Given the description of an element on the screen output the (x, y) to click on. 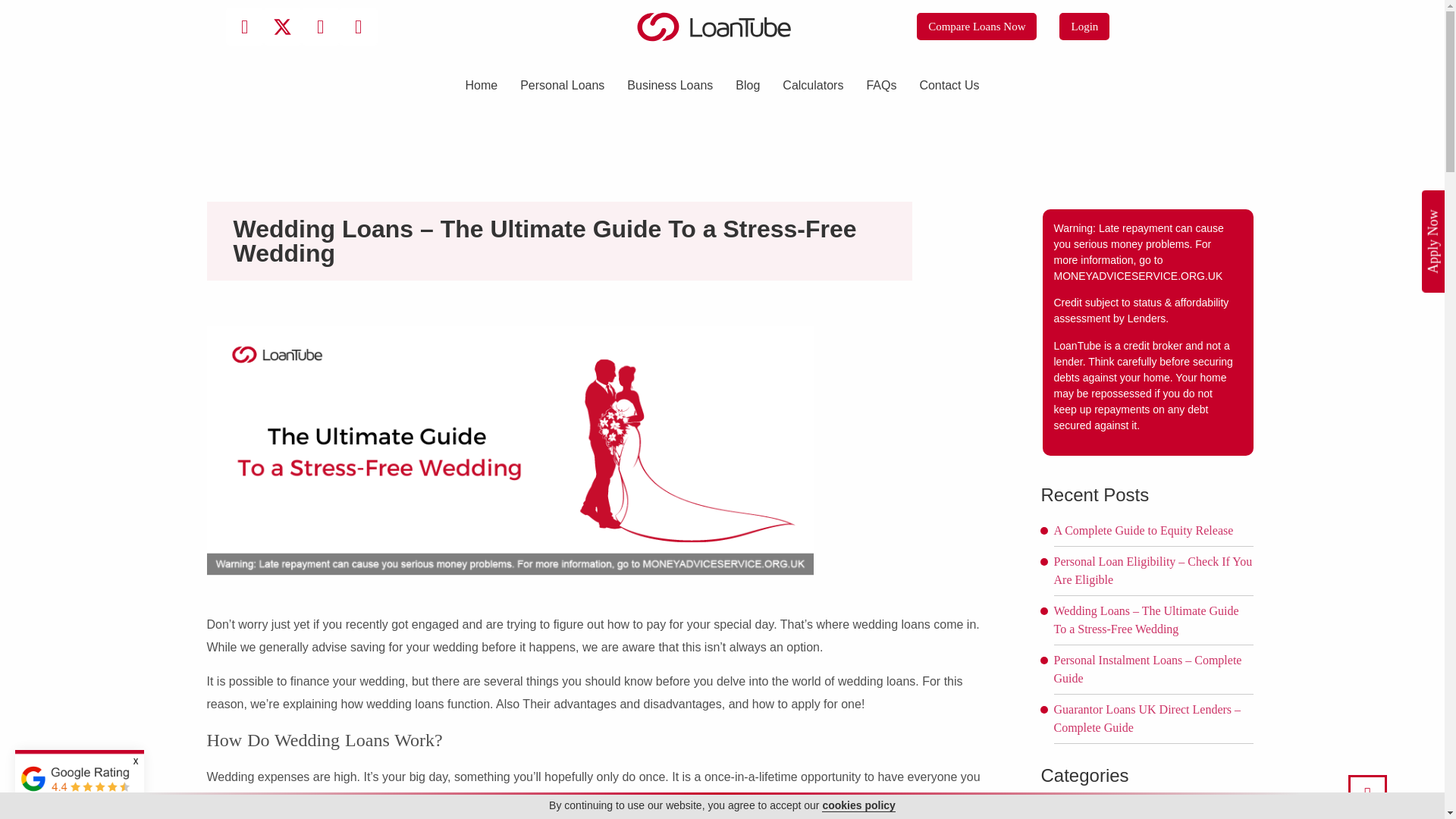
Personal Loans (561, 85)
Ask Loantube (1092, 813)
Home (480, 85)
Compare Loans Now (976, 26)
Login (1084, 26)
